Given the description of an element on the screen output the (x, y) to click on. 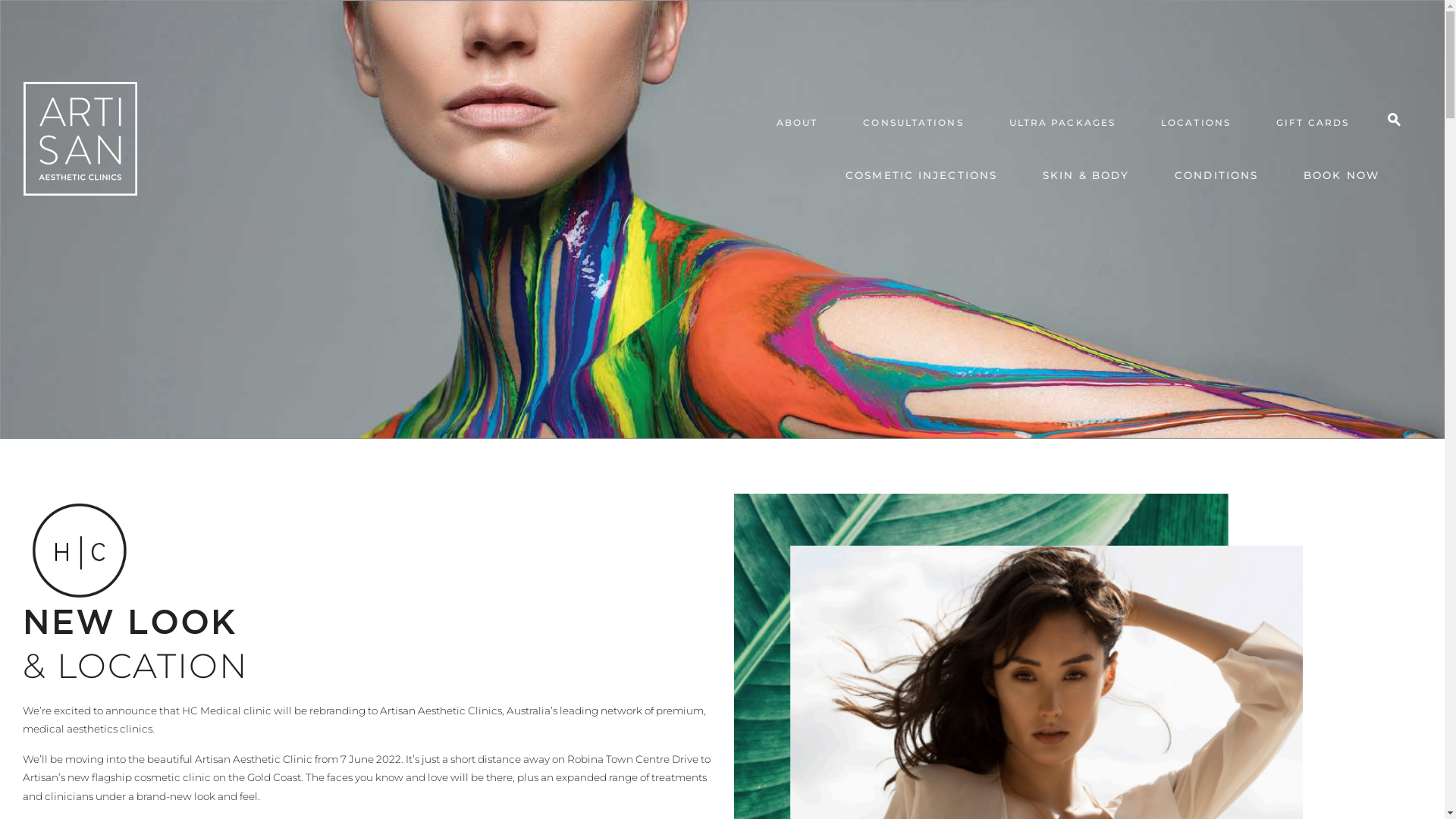
ABOUT Element type: text (797, 123)
CONSULTATIONS Element type: text (912, 123)
CONDITIONS Element type: text (1216, 176)
Skip to content Element type: text (1443, 0)
COSMETIC INJECTIONS Element type: text (921, 176)
GIFT CARDS Element type: text (1312, 123)
LOCATIONS Element type: text (1195, 123)
ULTRA PACKAGES Element type: text (1062, 123)
SKIN & BODY Element type: text (1085, 176)
BOOK NOW Element type: text (1341, 176)
